Given the description of an element on the screen output the (x, y) to click on. 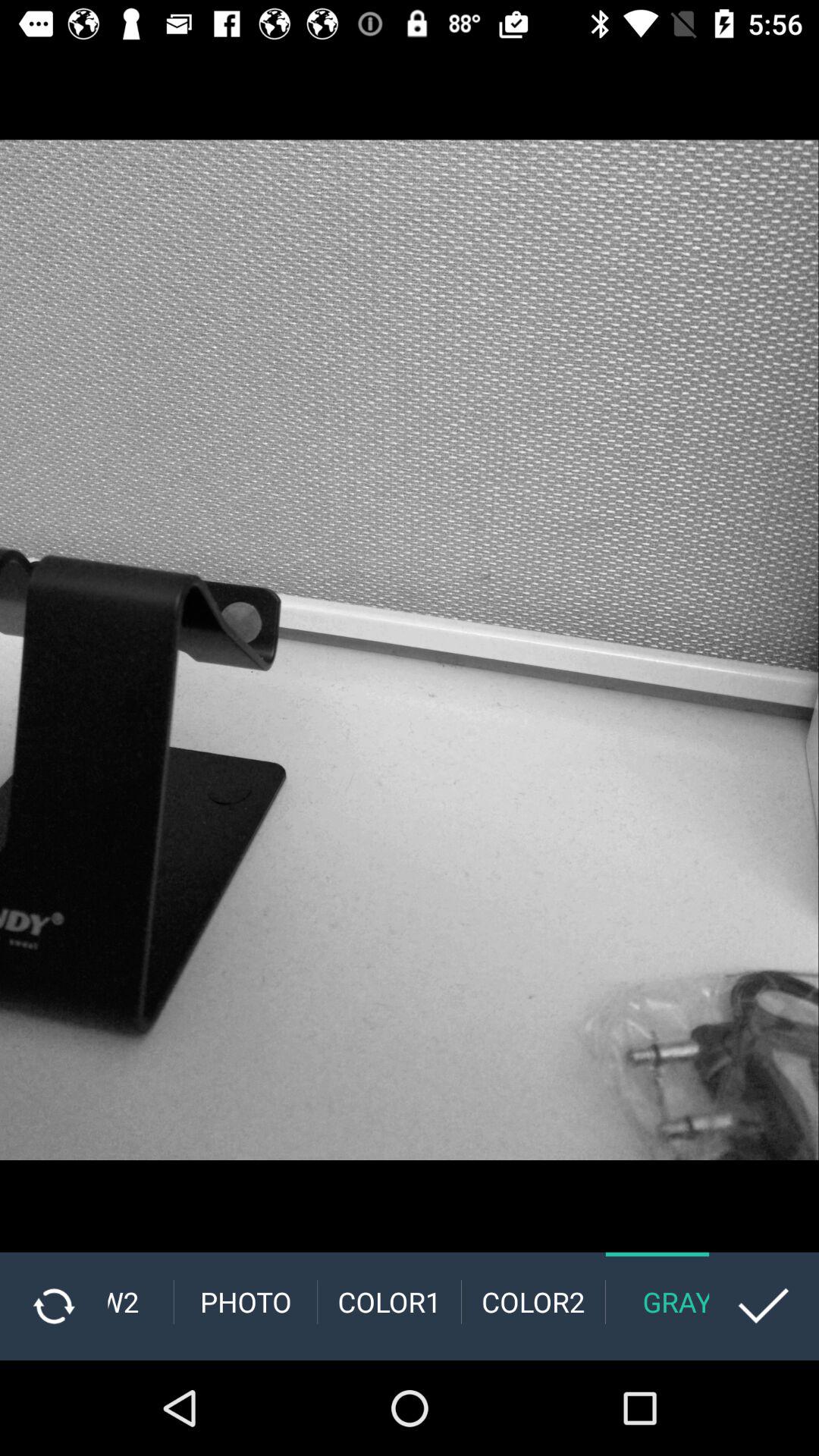
jump until gray item (657, 1301)
